Given the description of an element on the screen output the (x, y) to click on. 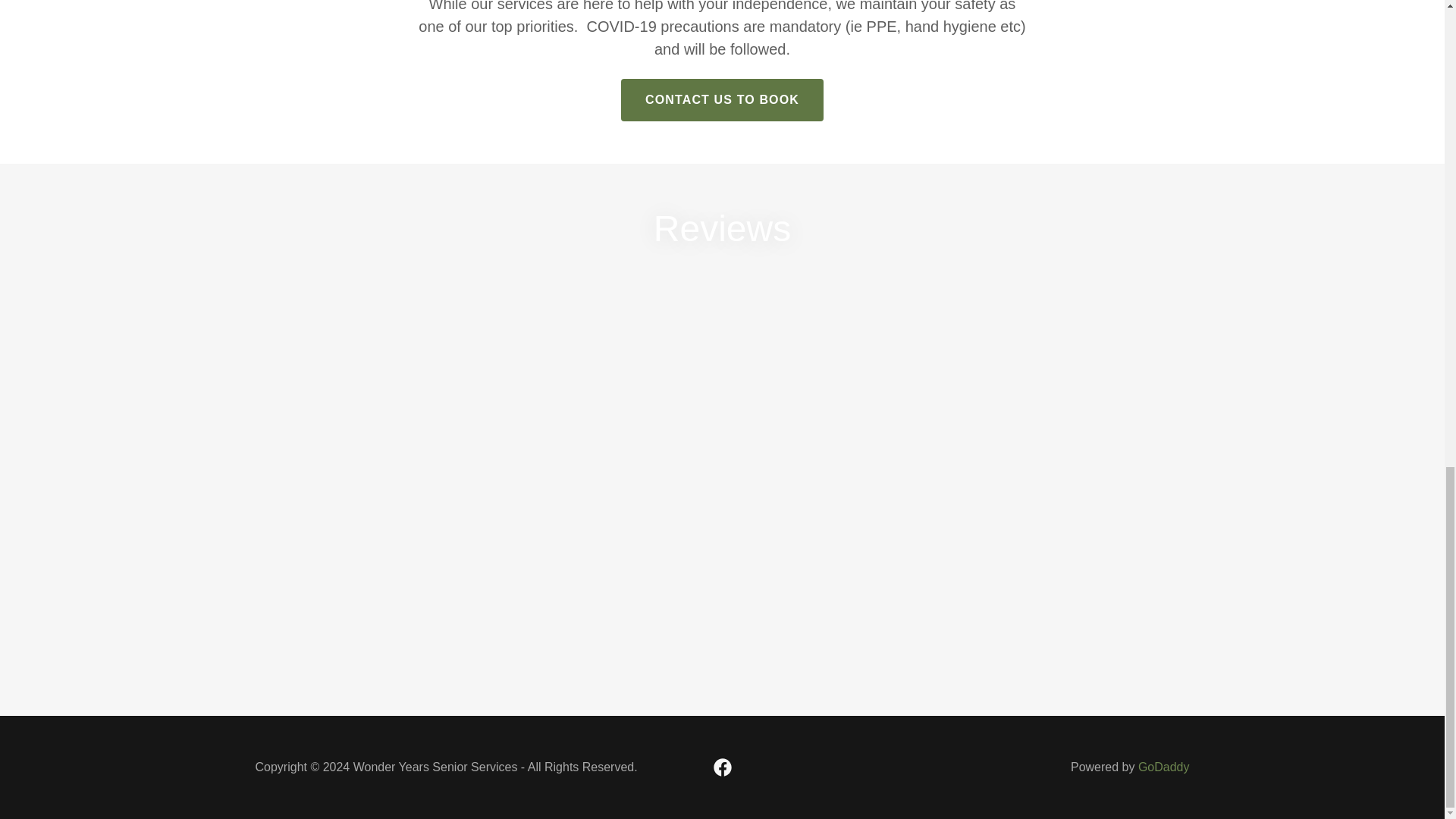
GoDaddy (1163, 766)
ACCEPT (1274, 46)
CONTACT US TO BOOK (722, 99)
